Given the description of an element on the screen output the (x, y) to click on. 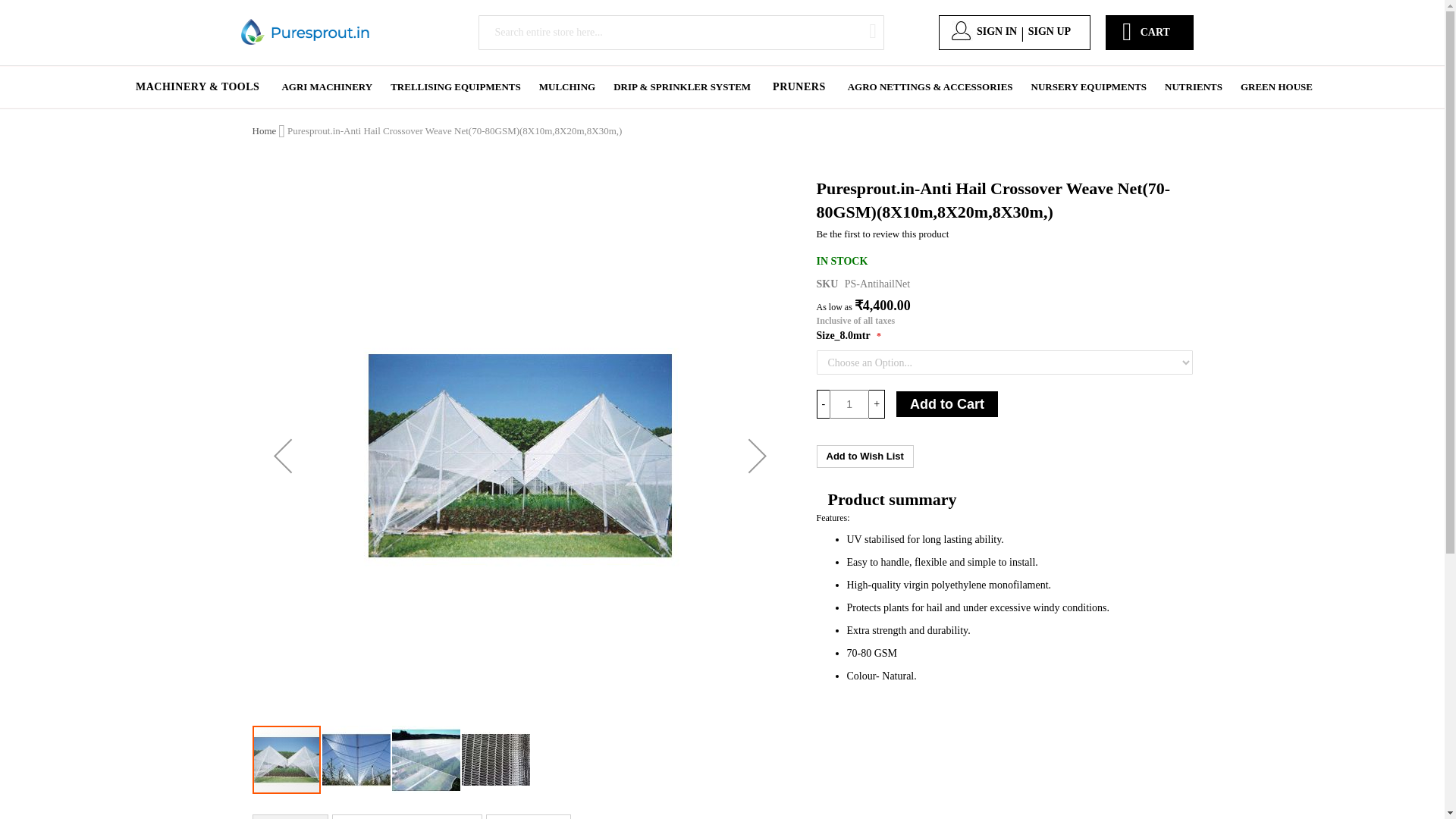
TRELLISING EQUIPMENTS (455, 86)
AGRI MACHINERY (326, 86)
PRUNERS (799, 86)
MULCHING (566, 86)
Go to Home Page (263, 130)
SIGN IN (996, 31)
CART (1155, 24)
Qty (849, 403)
Availability (841, 261)
SIGN UP (1048, 31)
Add to Cart (946, 403)
1 (849, 403)
